Given the description of an element on the screen output the (x, y) to click on. 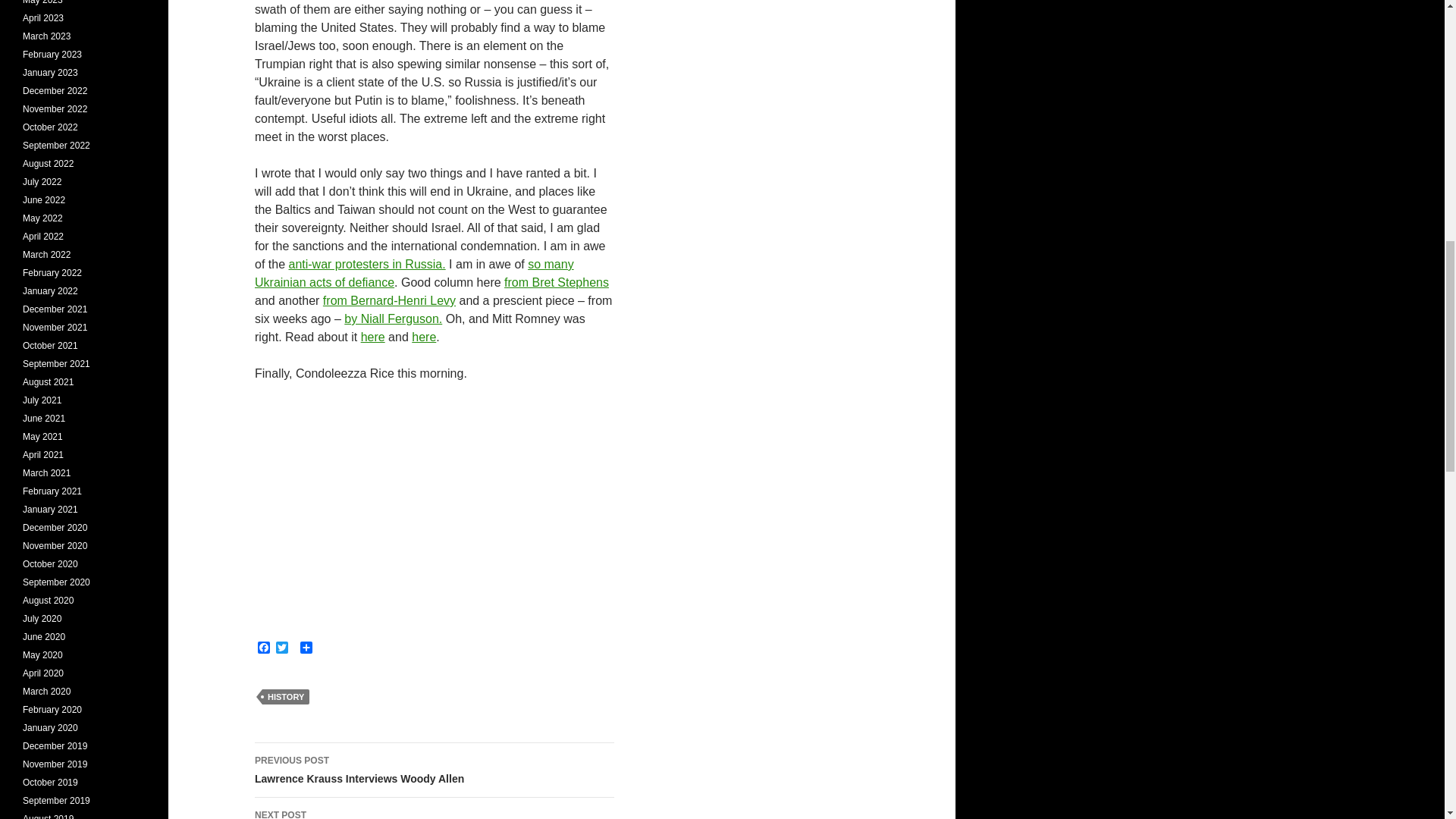
Facebook (263, 648)
Twitter (282, 648)
Twitter (282, 648)
here (373, 336)
from Bret Stephens (555, 282)
so many Ukrainian acts of defiance (434, 769)
here (413, 273)
by Niall Ferguson. (423, 336)
HISTORY (392, 318)
anti-war protesters in Russia. (434, 808)
from Bernard-Henri Levy (285, 696)
Facebook (366, 264)
